Given the description of an element on the screen output the (x, y) to click on. 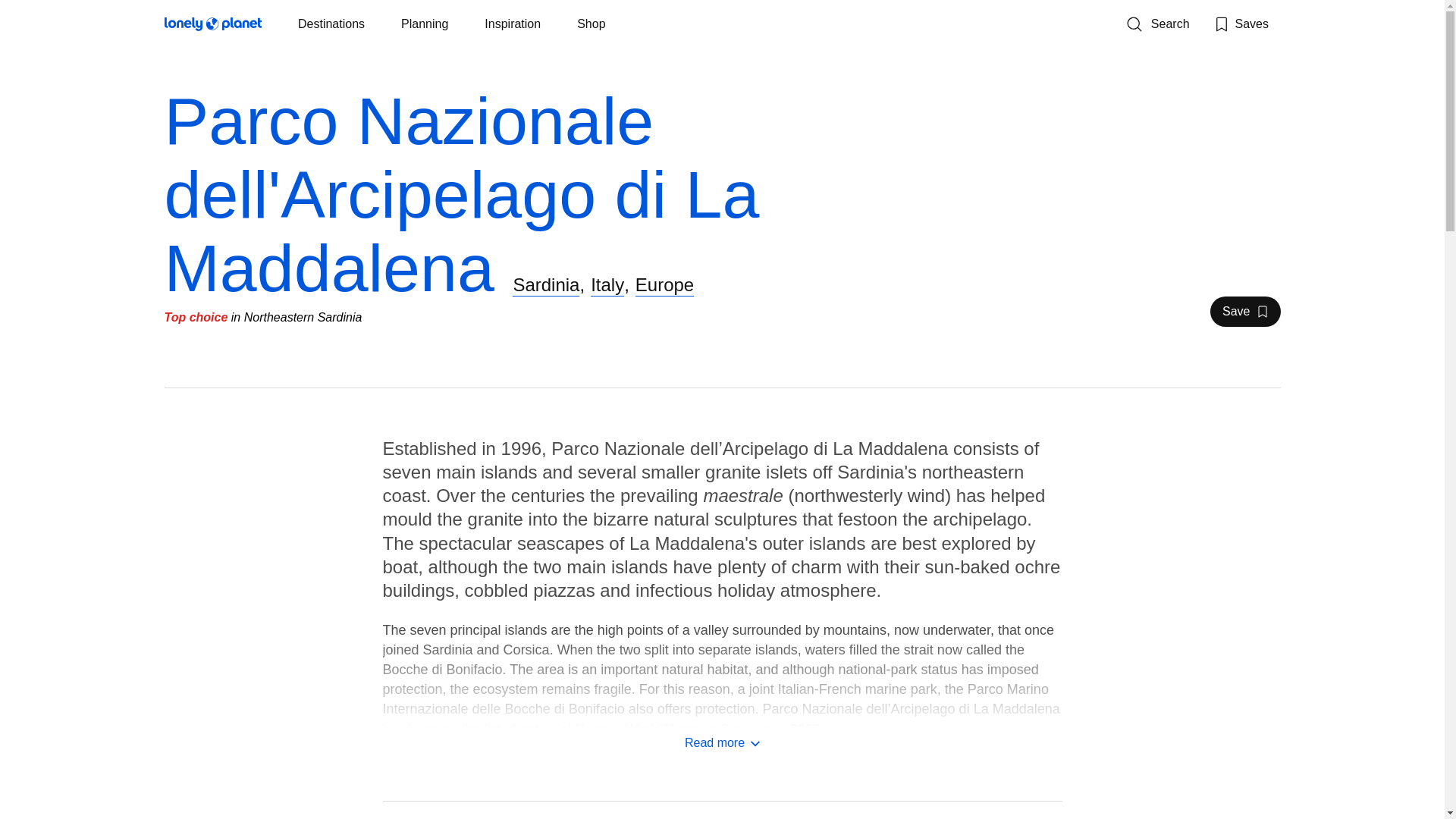
Europe (664, 284)
Saves (1244, 311)
Inspiration (1240, 24)
Destinations (512, 24)
Planning (330, 24)
Search (424, 24)
Lonely Planet (1157, 24)
Read more (211, 26)
Sardinia (722, 742)
Italy (545, 284)
